Given the description of an element on the screen output the (x, y) to click on. 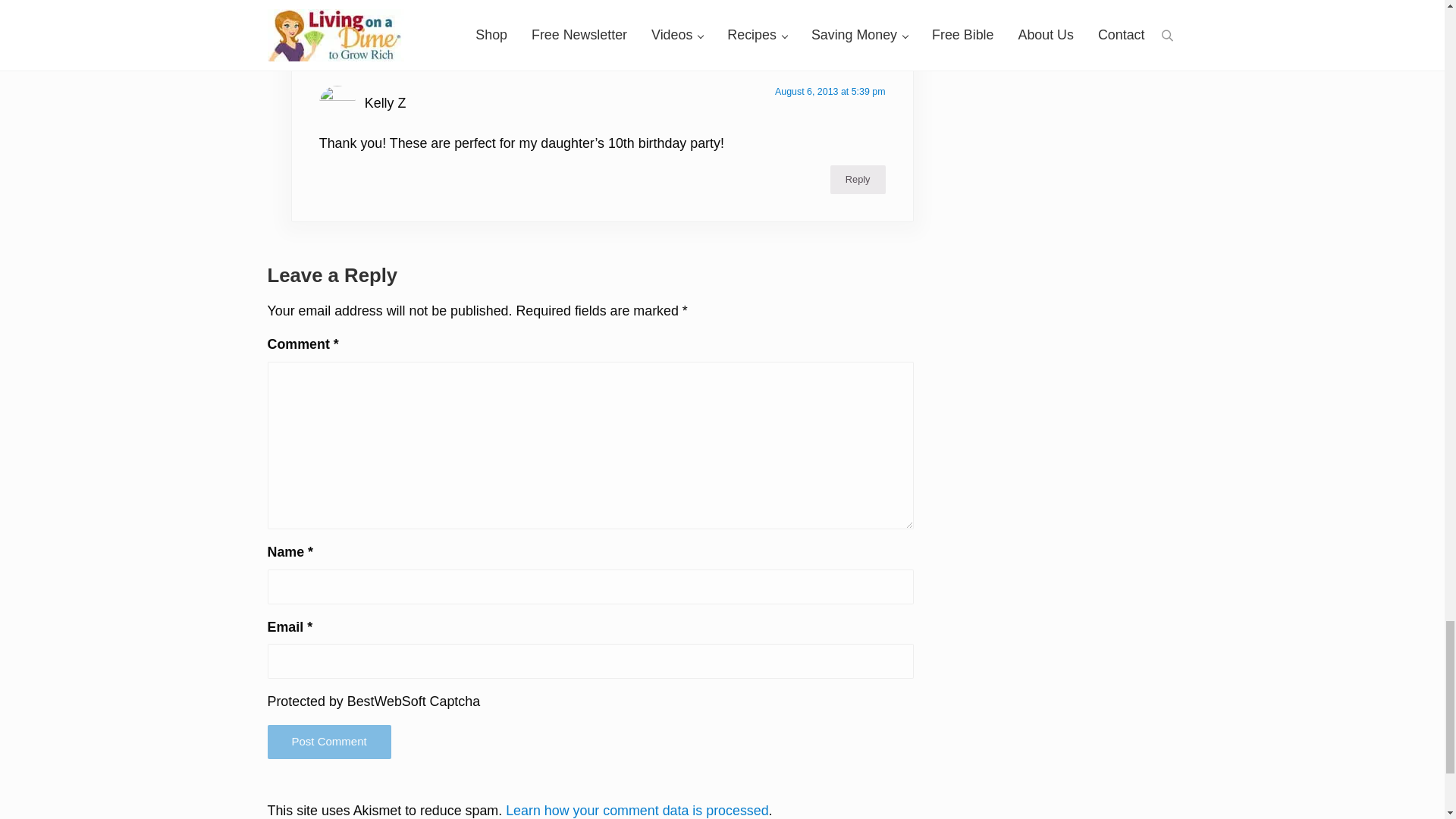
Post Comment (328, 741)
